Given the description of an element on the screen output the (x, y) to click on. 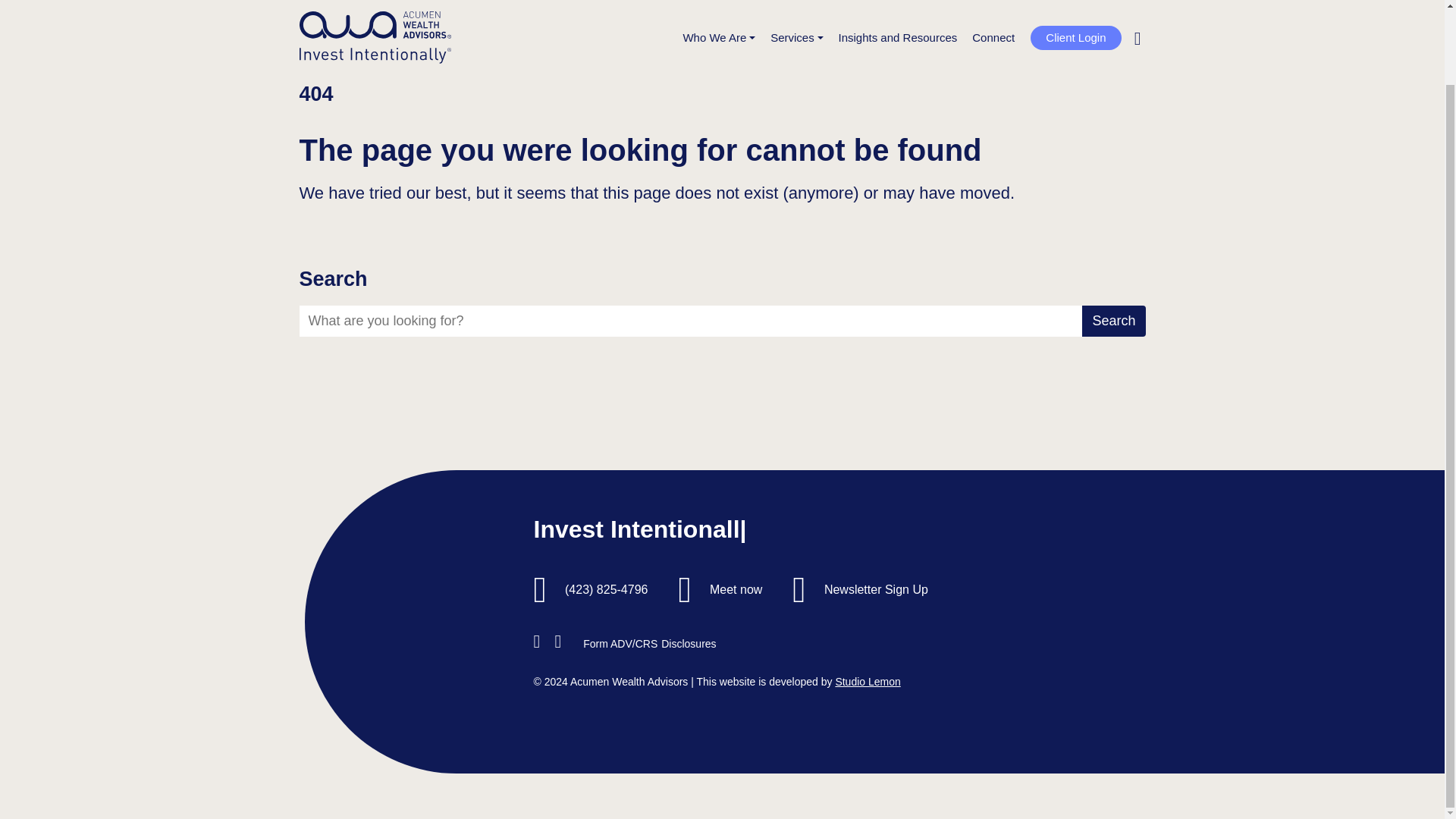
Toggle search (1137, 4)
Acumen Wealth Advisors (373, 16)
Newsletter Sign Up (876, 589)
Who We Are (718, 5)
Client Login (1075, 4)
Search (1112, 320)
Services (795, 5)
Insights and Resources (898, 5)
Search (1112, 8)
Connect (992, 5)
